Given the description of an element on the screen output the (x, y) to click on. 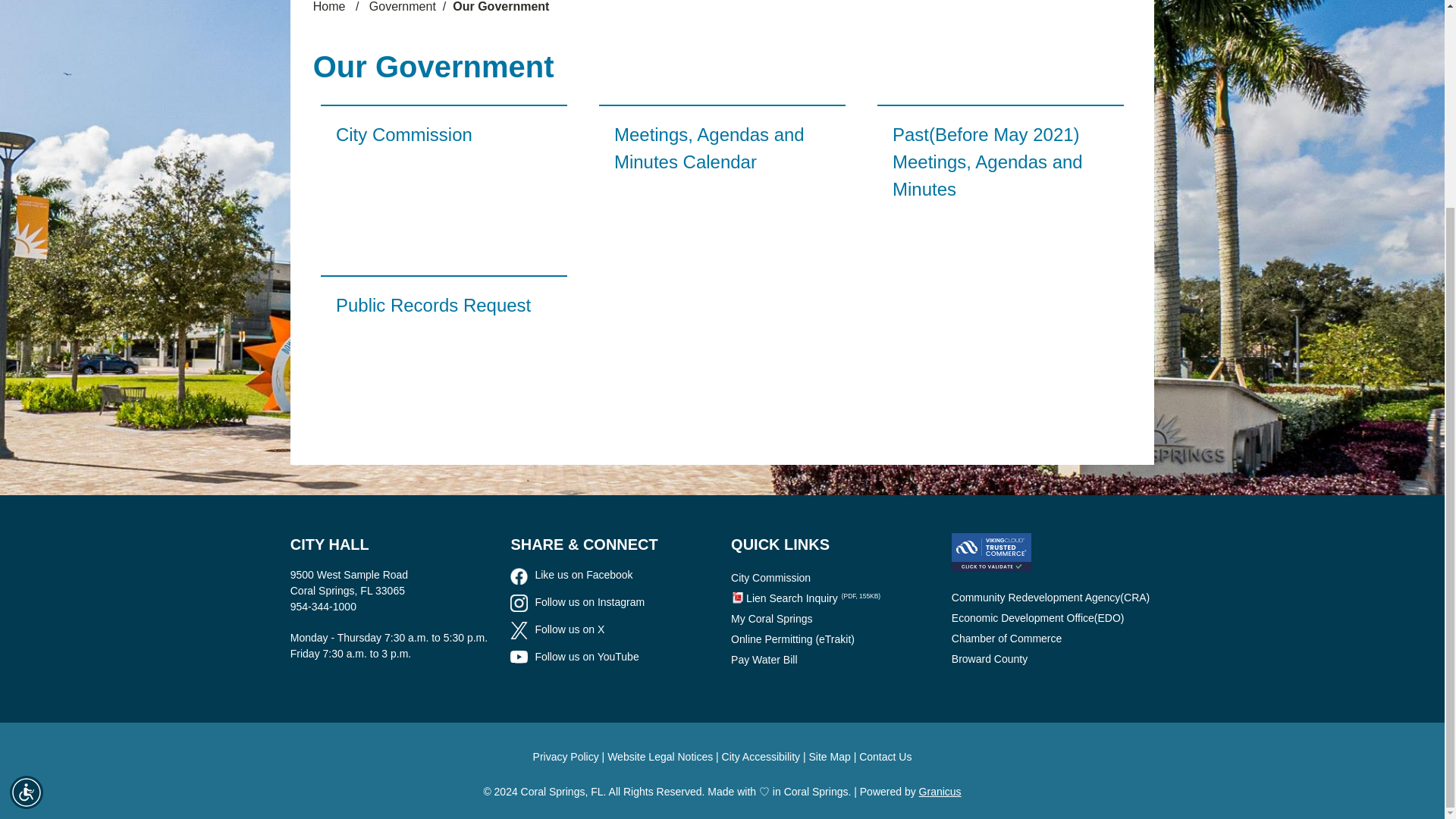
Accessibility Menu (26, 523)
